Given the description of an element on the screen output the (x, y) to click on. 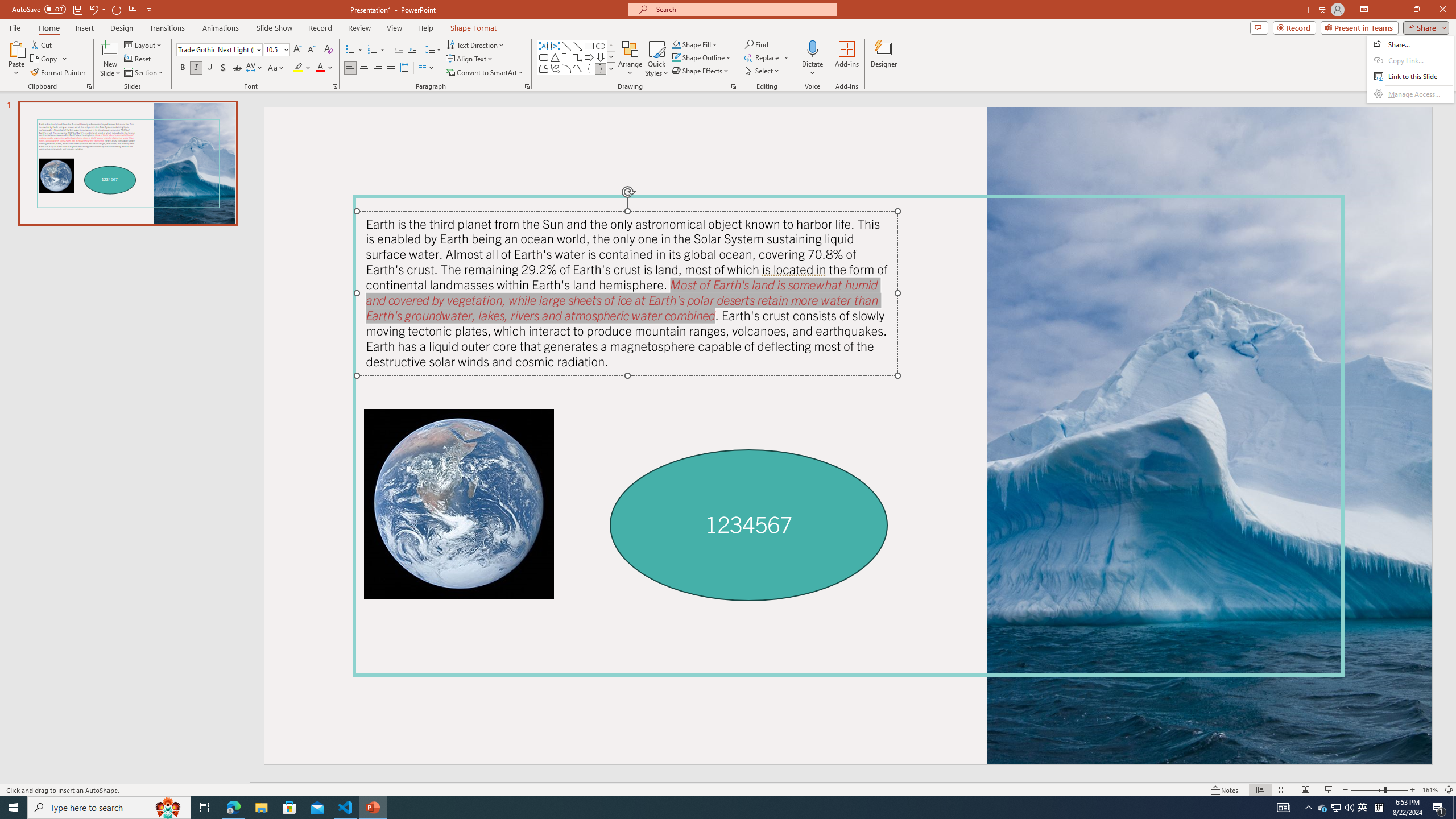
Shape Format (473, 28)
Shape Effects (700, 69)
Shape Outline Teal, Accent 1 (675, 56)
